Given the description of an element on the screen output the (x, y) to click on. 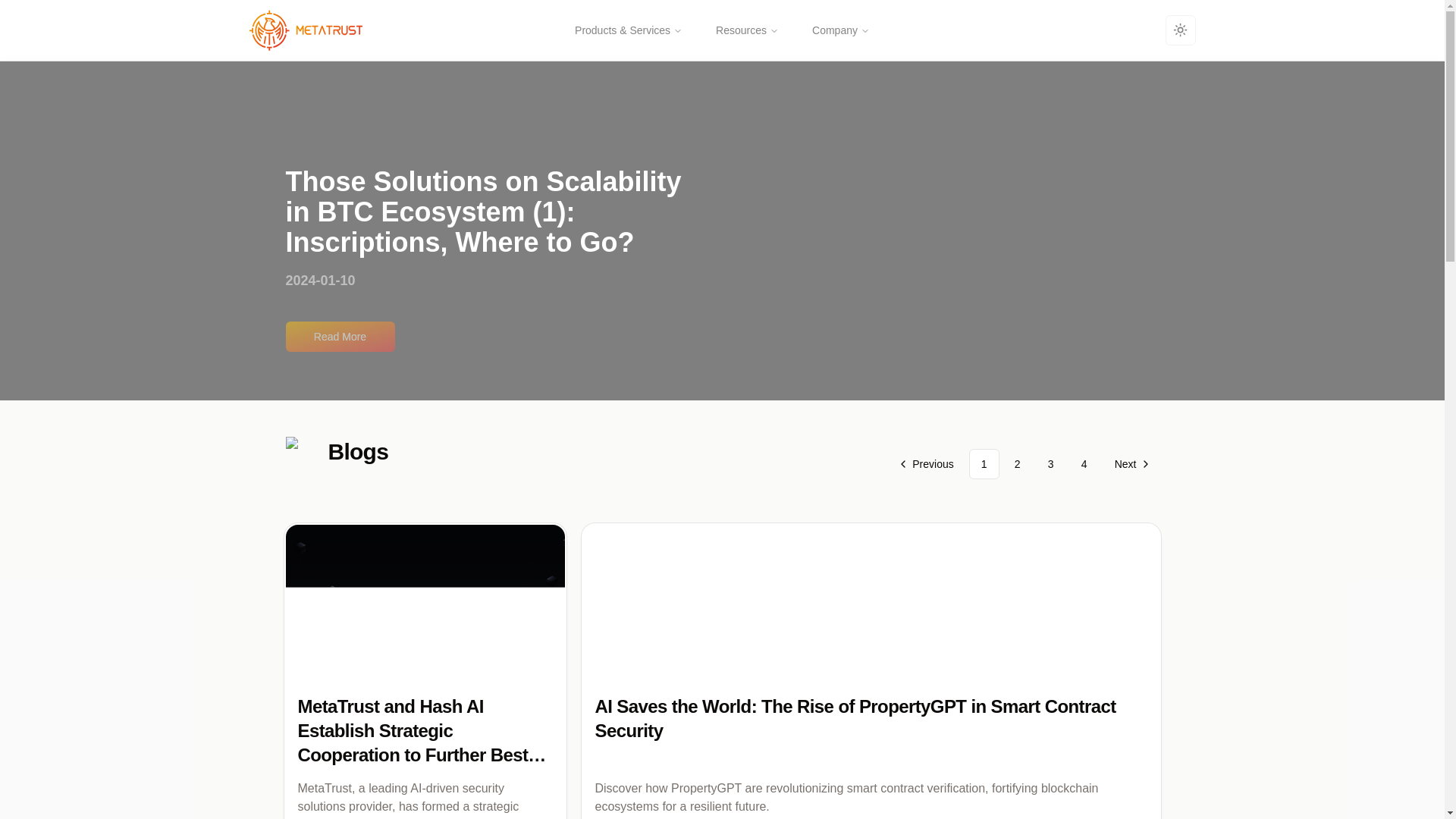
Read More (721, 327)
Previous (927, 463)
Resources (746, 30)
Toggle theme (1179, 30)
1 (983, 463)
Next (1130, 463)
Read More (339, 336)
Company (840, 30)
